Given the description of an element on the screen output the (x, y) to click on. 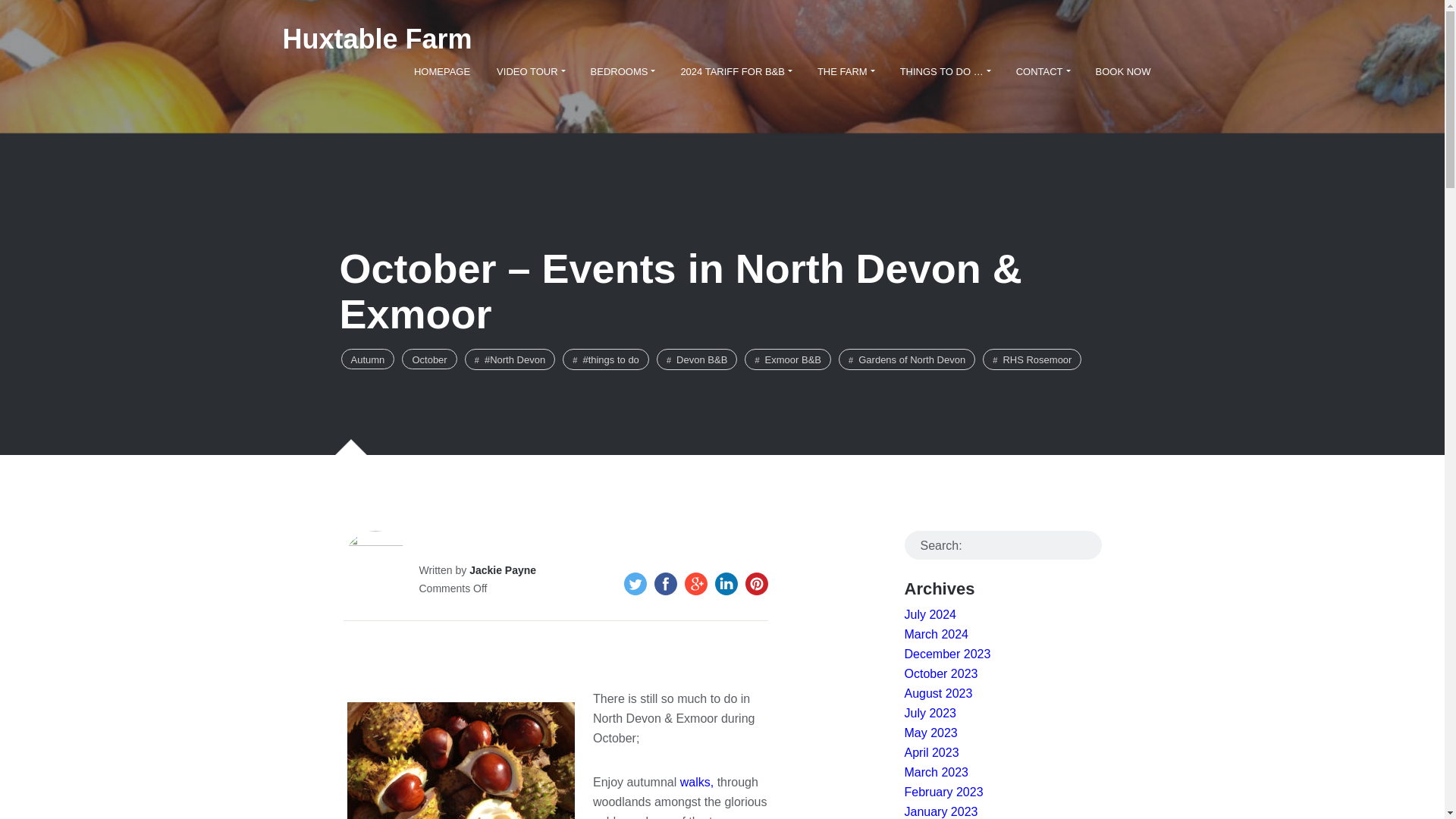
Share on LinkedIn (725, 583)
View all posts by Jackie Payne (501, 570)
Search: (1002, 544)
Share on Pinterest (755, 583)
HOMEPAGE (442, 70)
BEDROOMS (622, 70)
Huxtable Farm (376, 38)
Share on Facebook (665, 583)
Share on Twitter (634, 583)
VIDEO TOUR (529, 70)
